Given the description of an element on the screen output the (x, y) to click on. 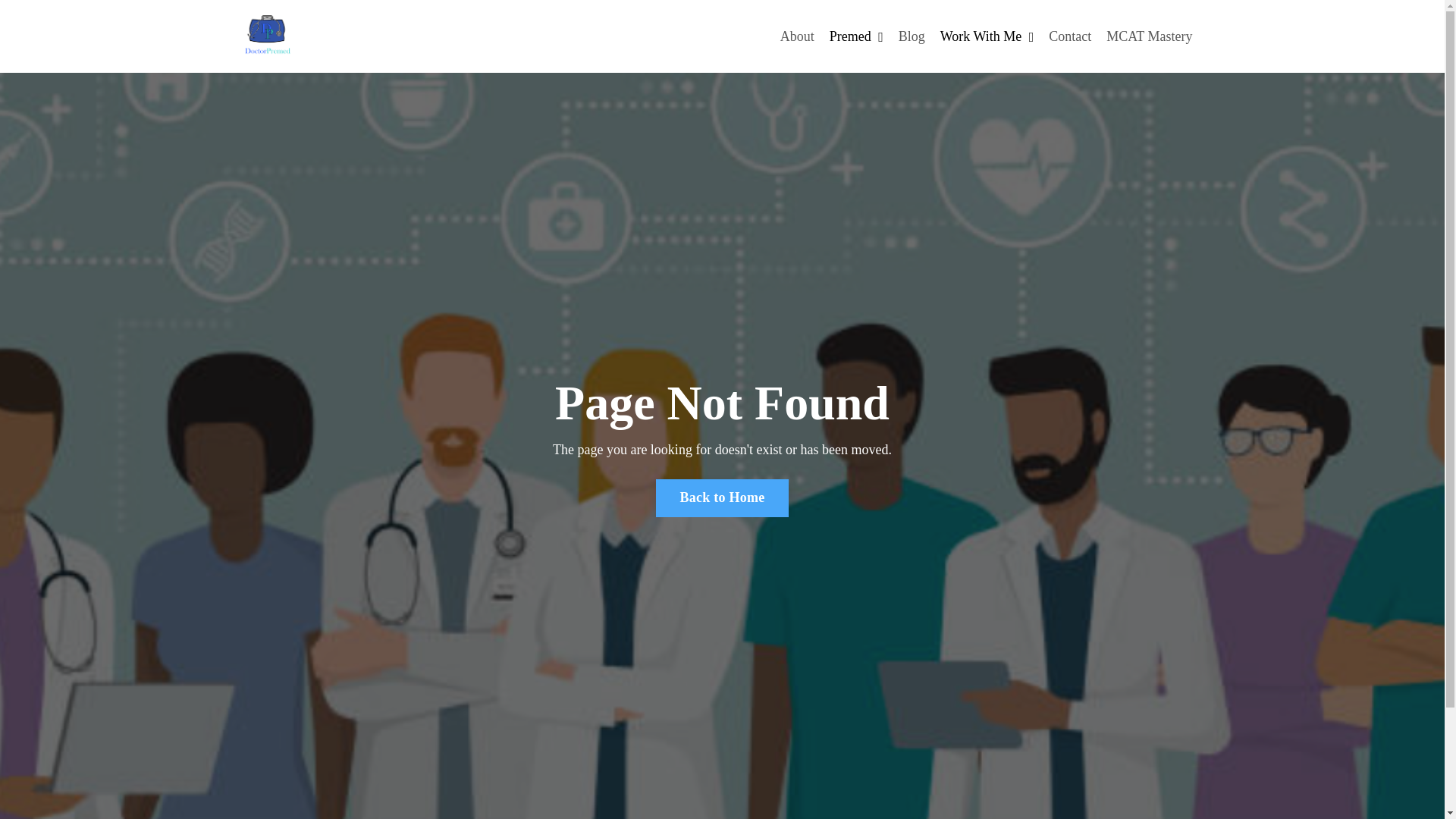
About (796, 36)
Premed (856, 36)
Contact (1069, 36)
MCAT Mastery (1149, 36)
Blog (911, 36)
Back to Home (722, 497)
Work With Me (986, 36)
